Given the description of an element on the screen output the (x, y) to click on. 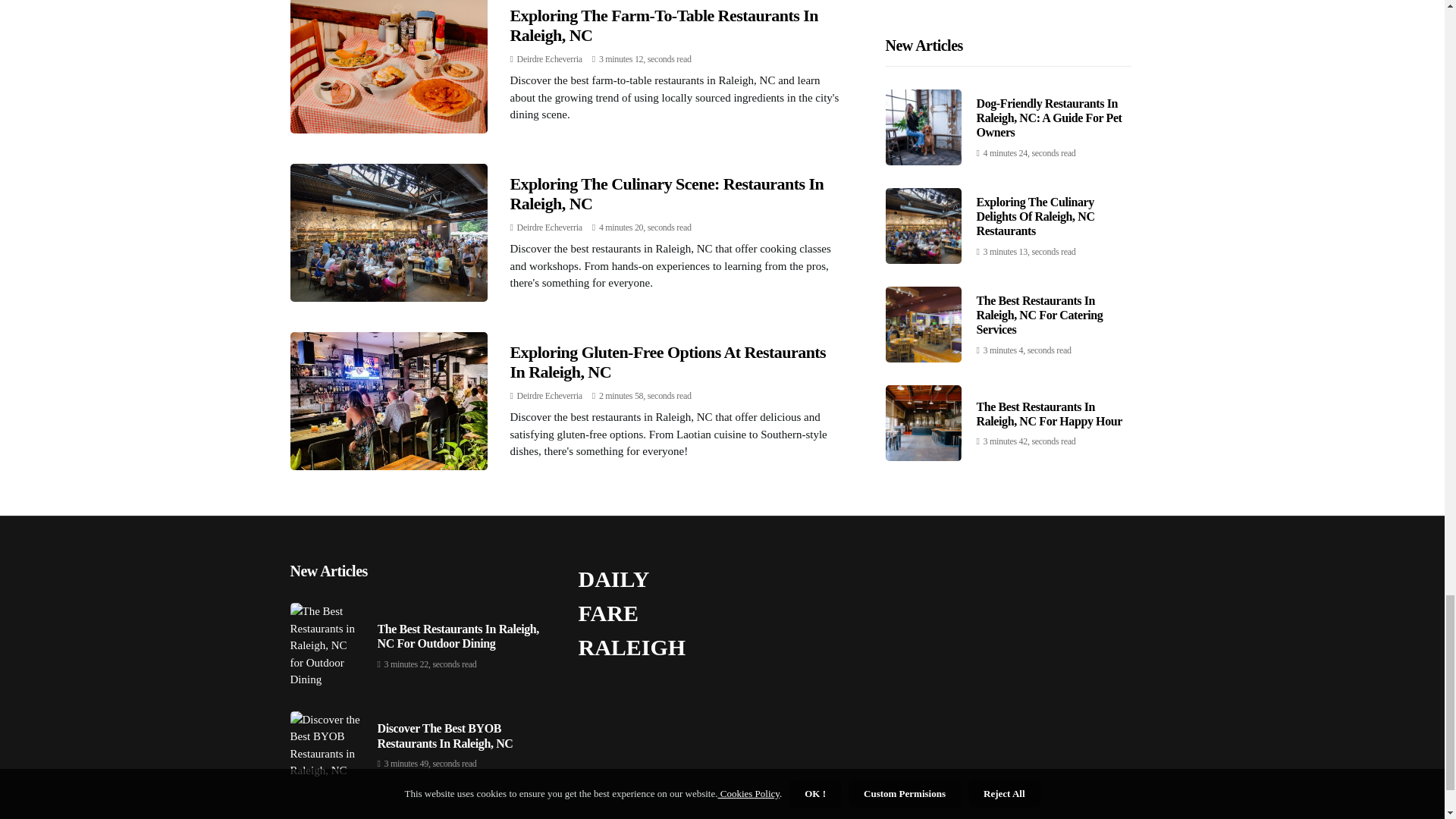
Deirdre Echeverria (549, 395)
Exploring Gluten-Free Options At Restaurants In Raleigh, NC (667, 362)
Deirdre Echeverria (549, 226)
Posts by Deirdre Echeverria (549, 226)
Exploring The Culinary Scene: Restaurants In Raleigh, NC (666, 193)
Posts by Deirdre Echeverria (549, 395)
Exploring The Farm-To-Table Restaurants In Raleigh, NC (662, 25)
Posts by Deirdre Echeverria (549, 59)
Deirdre Echeverria (549, 59)
